Given the description of an element on the screen output the (x, y) to click on. 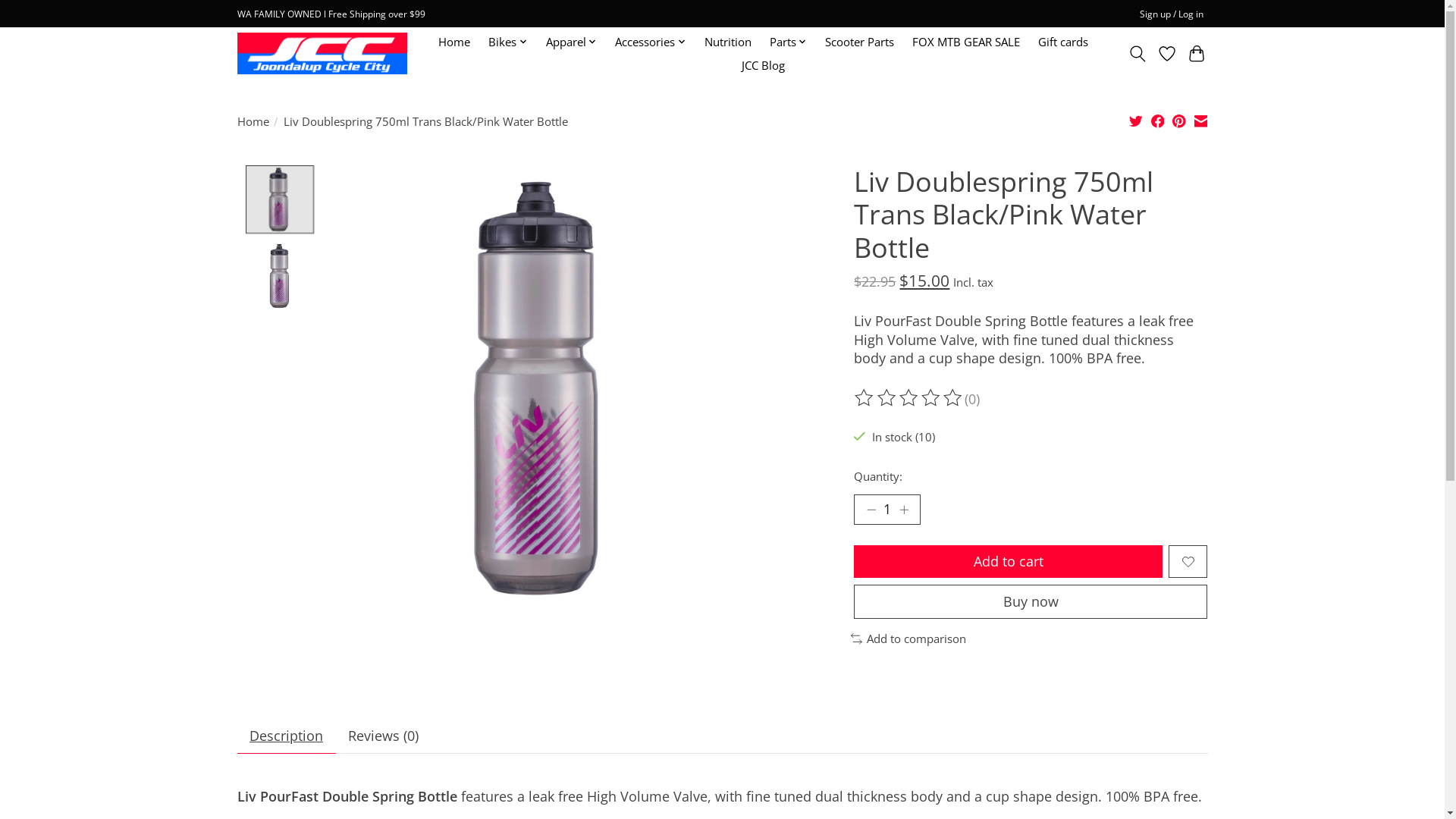
Add to cart Element type: text (1007, 561)
Buy now Element type: text (1030, 601)
Description Element type: text (285, 735)
Add to comparison Element type: text (908, 638)
Joondalup Cycle City WA Owned Element type: hover (321, 53)
JCC Blog Element type: text (763, 65)
Accessories Element type: text (650, 41)
Parts Element type: text (787, 41)
Share by Email Element type: text (1201, 122)
Scooter Parts Element type: text (859, 41)
Apparel Element type: text (570, 41)
Gift cards Element type: text (1062, 41)
Bikes Element type: text (508, 41)
FOX MTB GEAR SALE Element type: text (965, 41)
Share on Pinterest Element type: text (1179, 122)
Sign up / Log in Element type: text (1171, 13)
Home Element type: text (252, 120)
Share on Twitter Element type: text (1135, 122)
Home Element type: text (454, 41)
Nutrition Element type: text (727, 41)
Share on Facebook Element type: text (1157, 122)
Reviews (0) Element type: text (382, 735)
